Given the description of an element on the screen output the (x, y) to click on. 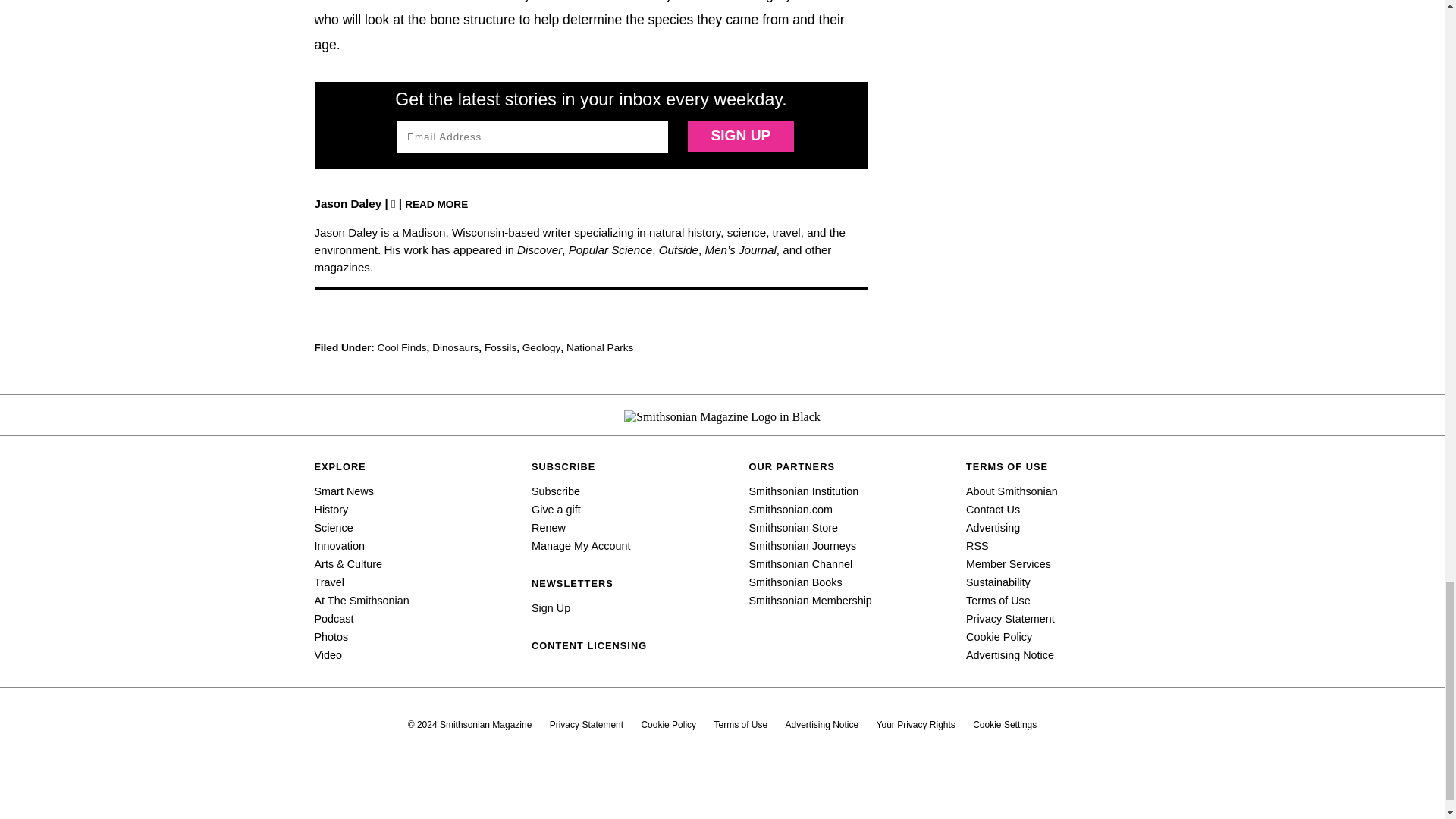
Sign Up (740, 135)
Read more from this author (435, 203)
